Given the description of an element on the screen output the (x, y) to click on. 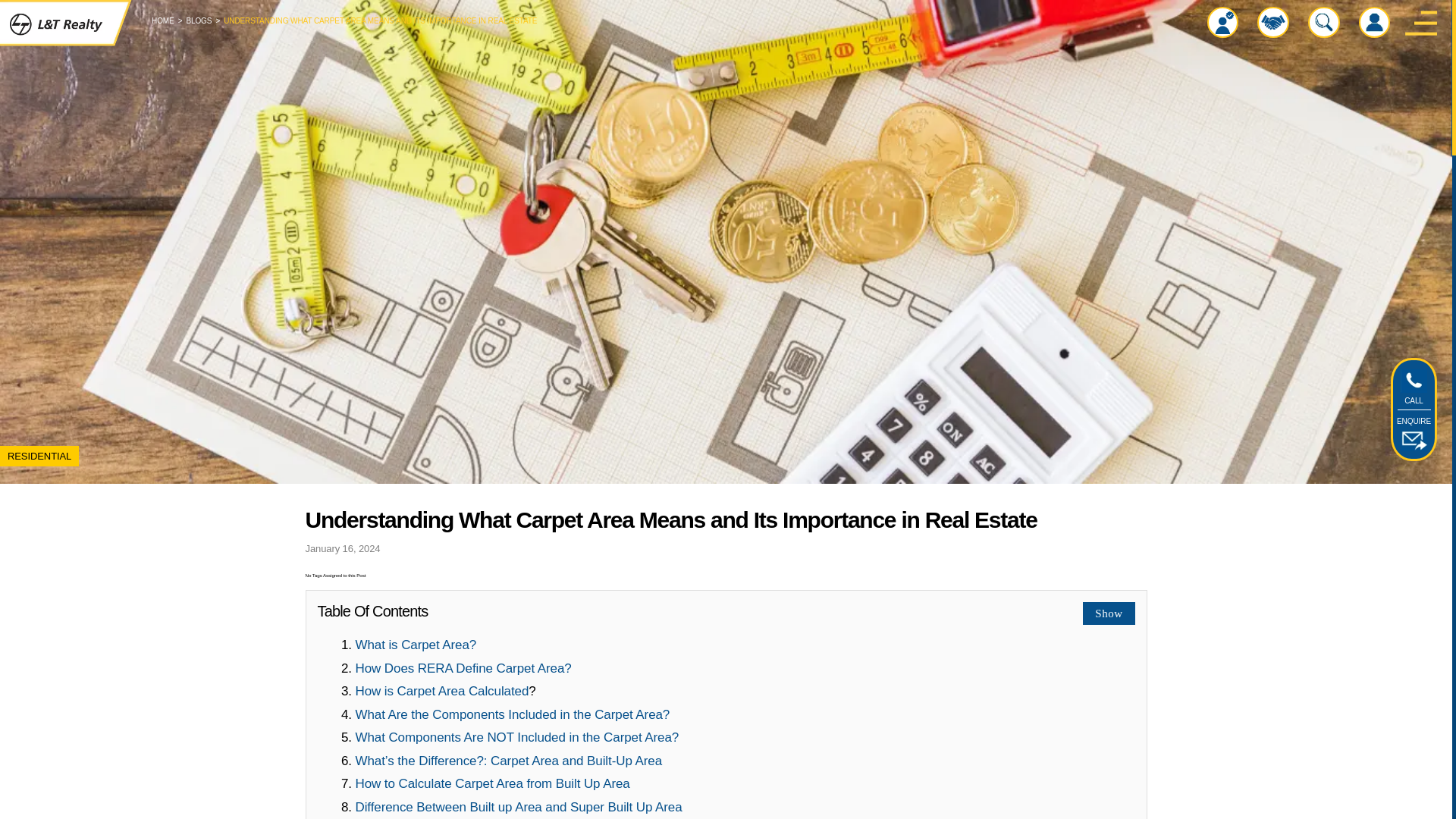
HOME (162, 20)
BLOGS (198, 20)
Go to Project Residences. (198, 20)
